Given the description of an element on the screen output the (x, y) to click on. 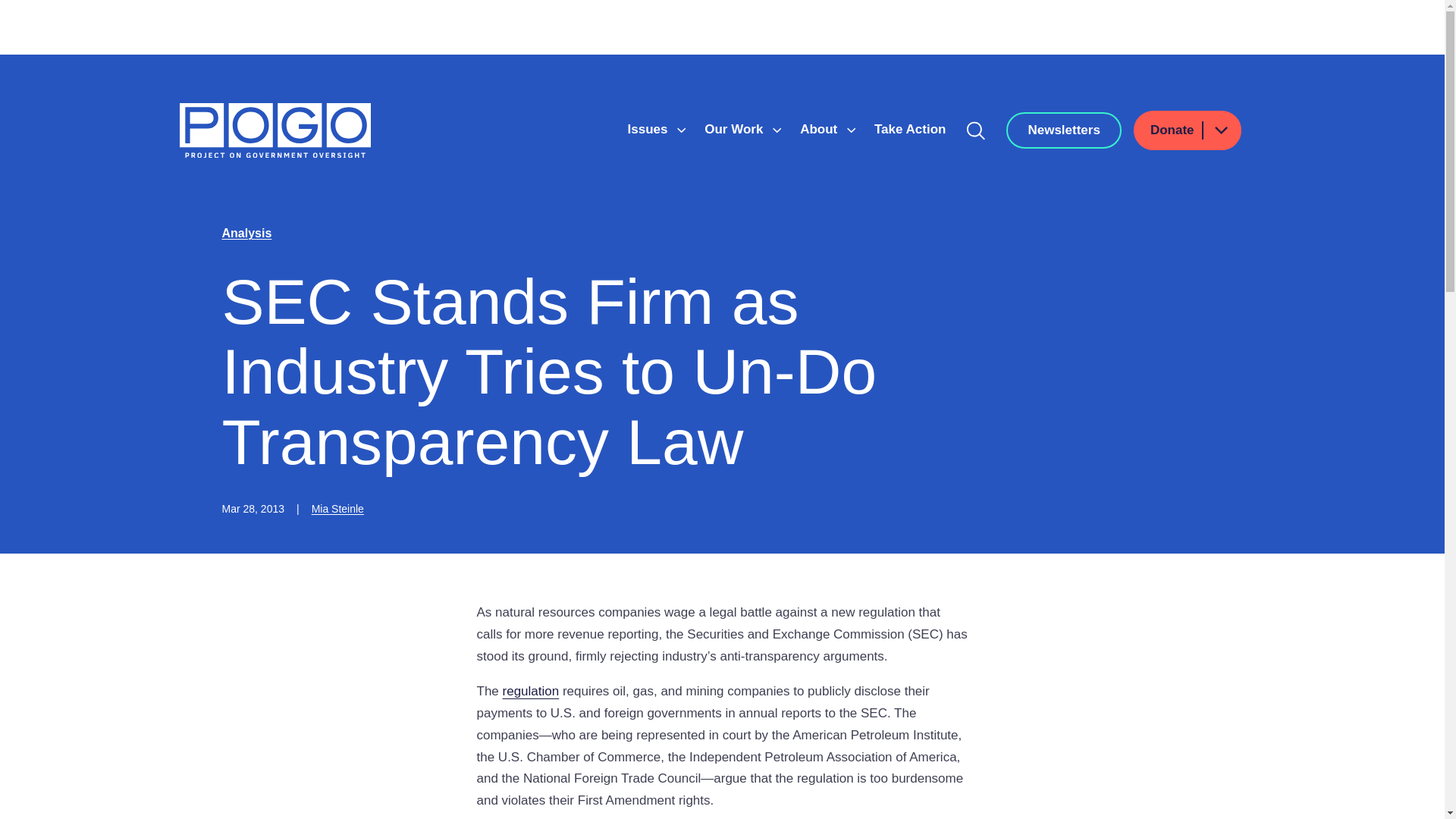
Show submenu for Issues (681, 130)
Show submenu for Our Work (777, 130)
Show submenu for About (851, 130)
Our Work (735, 129)
Home (274, 130)
Show submenu for Donate (1220, 129)
Take Action (909, 129)
Donate (1187, 130)
About (820, 129)
Issues (649, 129)
Newsletters (1063, 130)
Search (976, 130)
